Given the description of an element on the screen output the (x, y) to click on. 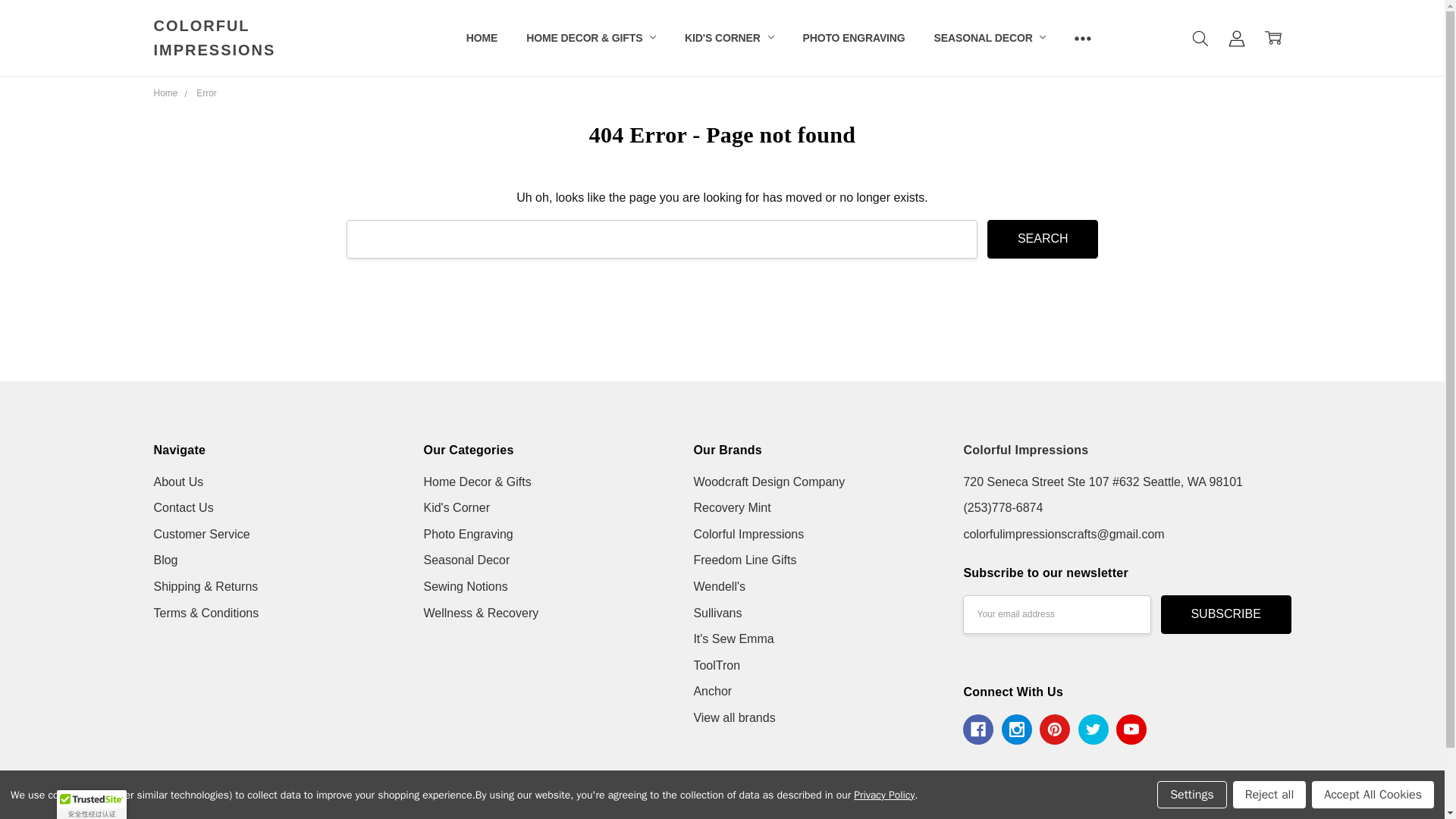
Search (1042, 239)
COLORFUL IMPRESSIONS (263, 86)
SEASONAL DECOR (990, 38)
CUSTOMER SERVICE (520, 38)
KID'S CORNER (728, 38)
CONTACT US (499, 38)
ABOUT US (493, 38)
Subscribe (1225, 614)
PHOTO ENGRAVING (854, 38)
TrustedSite Certified (91, 804)
